Given the description of an element on the screen output the (x, y) to click on. 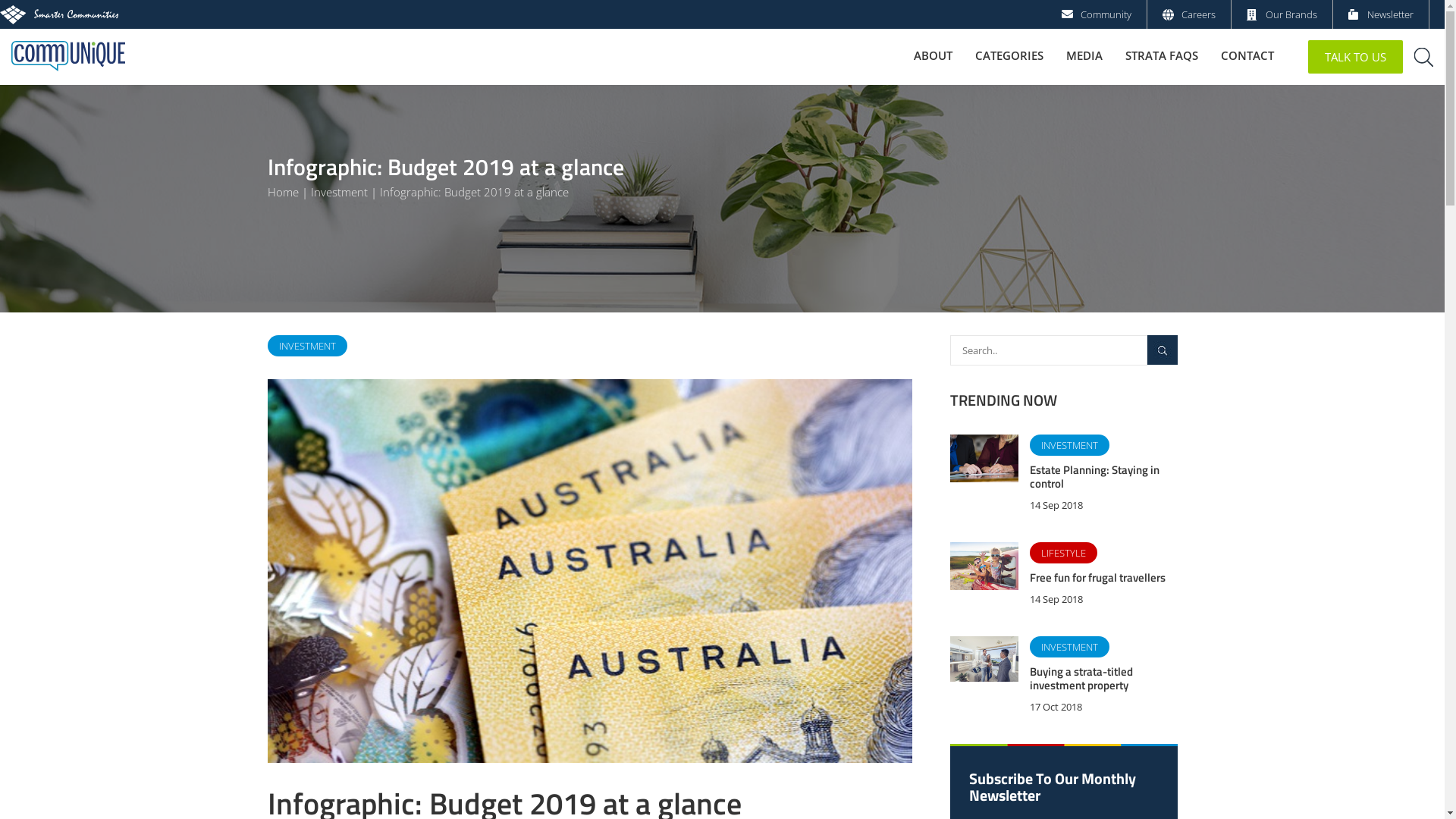
Home Element type: text (282, 191)
STRATA FAQS Element type: text (1161, 54)
Careers Element type: text (1198, 14)
Newsletter Element type: text (1390, 14)
CATEGORIES Element type: text (1009, 54)
Investment Element type: text (338, 191)
LIFESTYLE
Free fun for frugal travellers
14 Sep 2018 Element type: text (1062, 577)
MEDIA Element type: text (1084, 54)
CONTACT Element type: text (1247, 54)
Infographic: Budget 2019 at a glance Element type: text (473, 191)
Our Brands Element type: text (1291, 14)
ABOUT Element type: text (932, 54)
TALK TO US Element type: text (1355, 56)
INVESTMENT
Estate Planning: Staying in control
14 Sep 2018 Element type: text (1062, 476)
Community Element type: text (1105, 14)
